Given the description of an element on the screen output the (x, y) to click on. 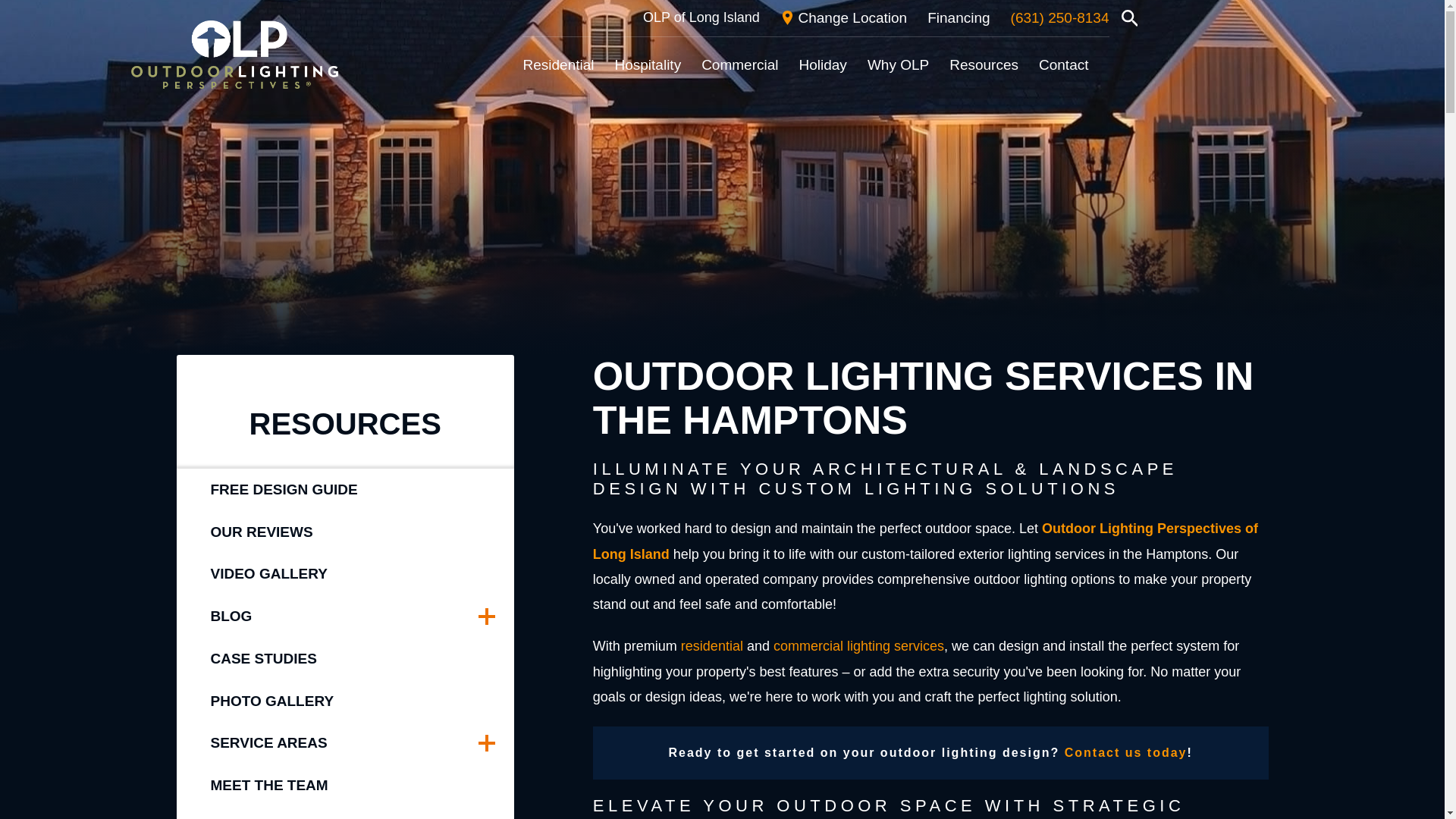
Change Location (843, 18)
Outdoor Lighting Perspectives (234, 54)
Hospitality (647, 65)
Residential (558, 65)
Financing (958, 18)
